Given the description of an element on the screen output the (x, y) to click on. 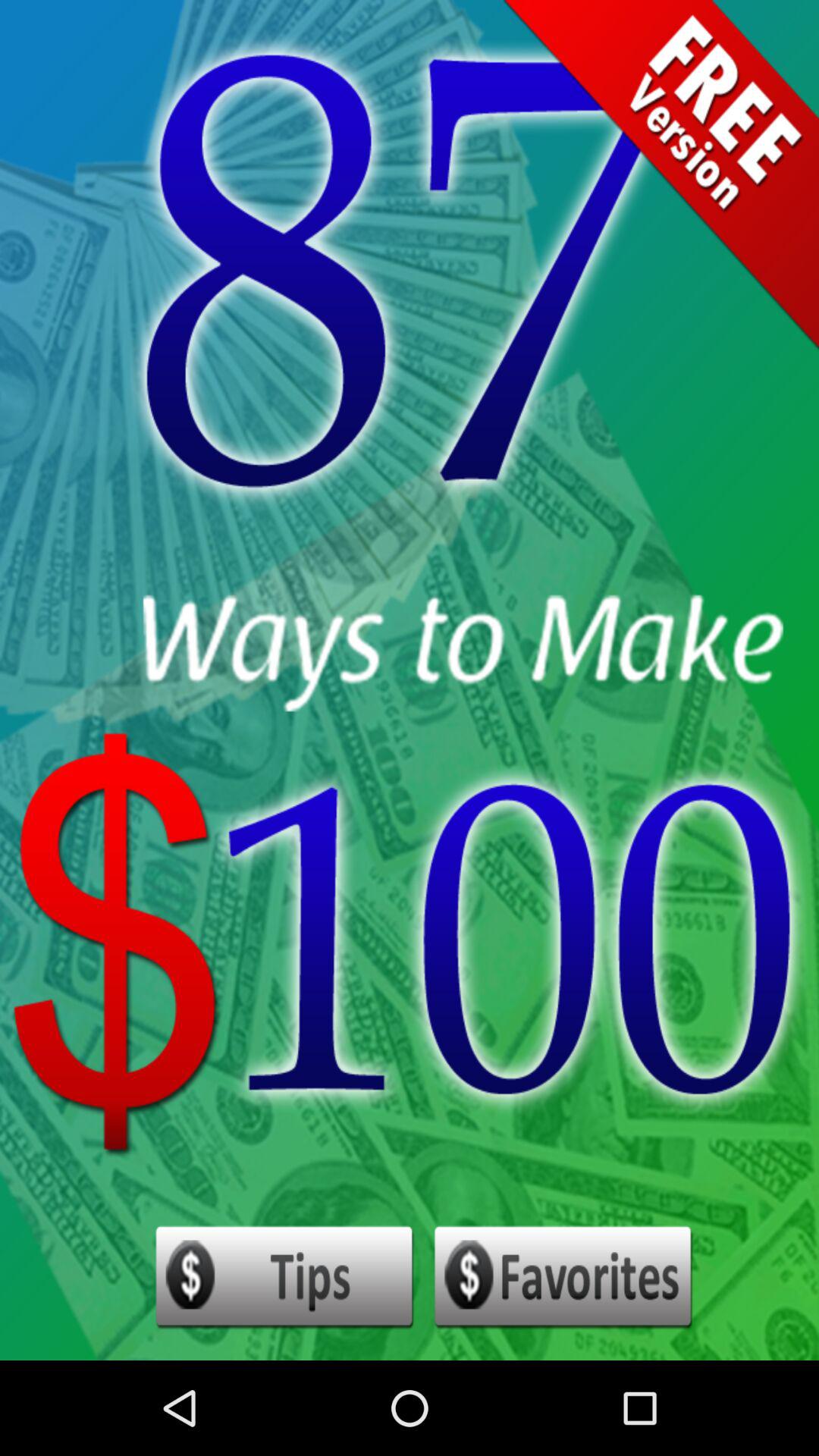
set as favorites (563, 1277)
